Given the description of an element on the screen output the (x, y) to click on. 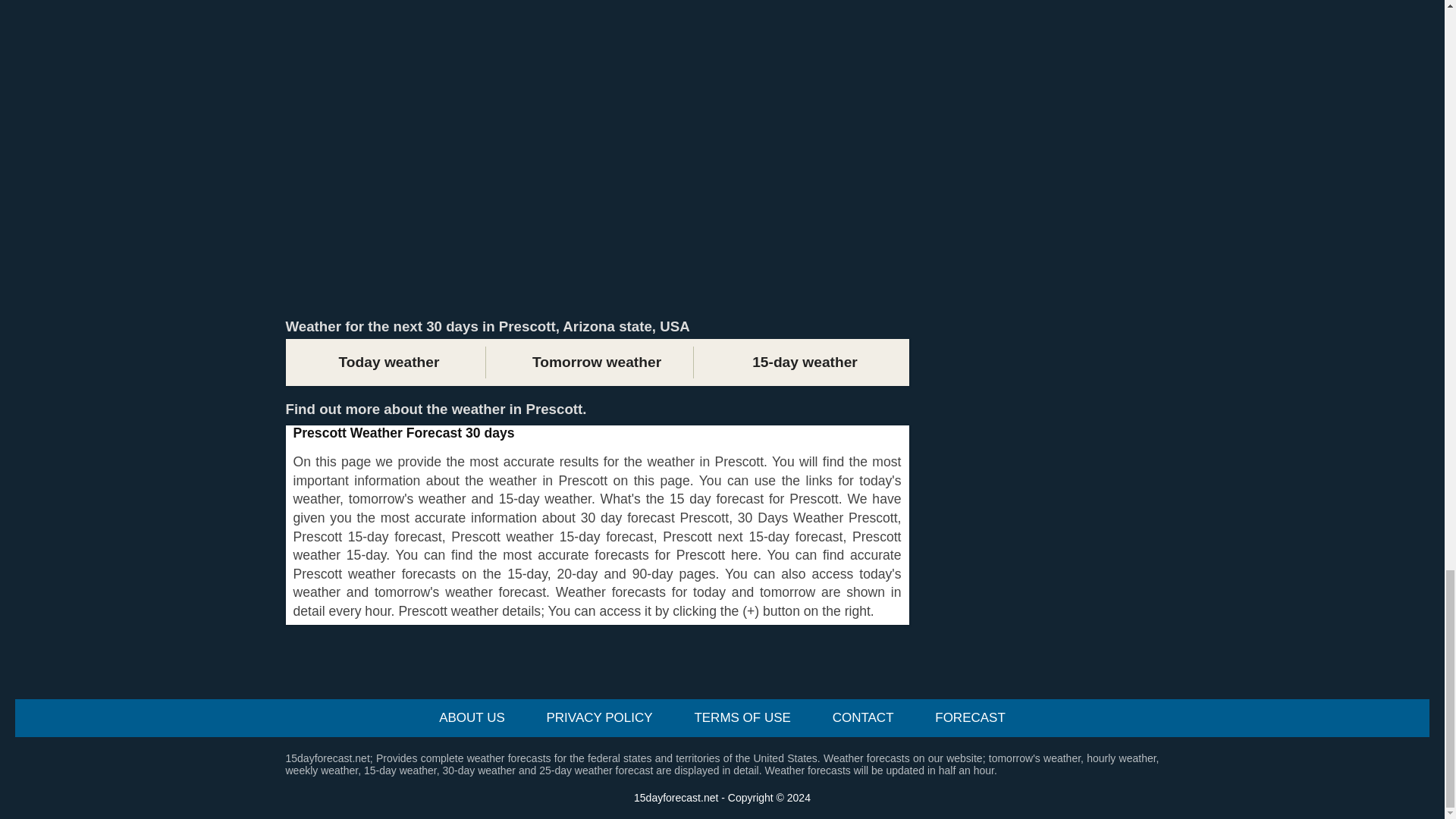
Today weather (388, 362)
15-day weather (804, 362)
Tomorrow weather (596, 362)
